Given the description of an element on the screen output the (x, y) to click on. 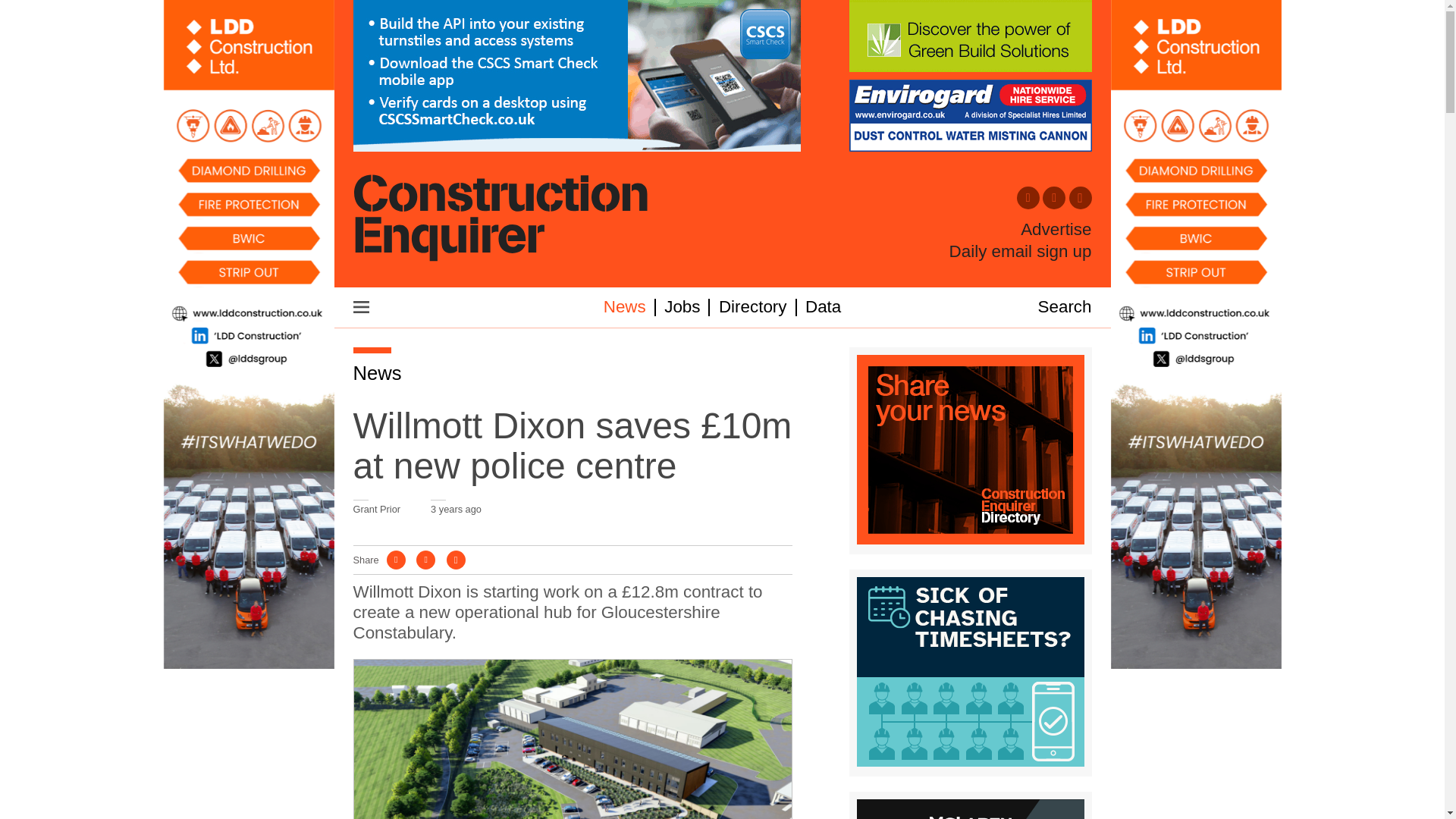
Directory (753, 306)
Jobs (681, 306)
News (625, 306)
Menu (361, 306)
Construction Enquirer (500, 219)
Data (823, 306)
Advertise (1055, 229)
Daily email sign up (1020, 251)
News (377, 373)
Search (1065, 306)
